Given the description of an element on the screen output the (x, y) to click on. 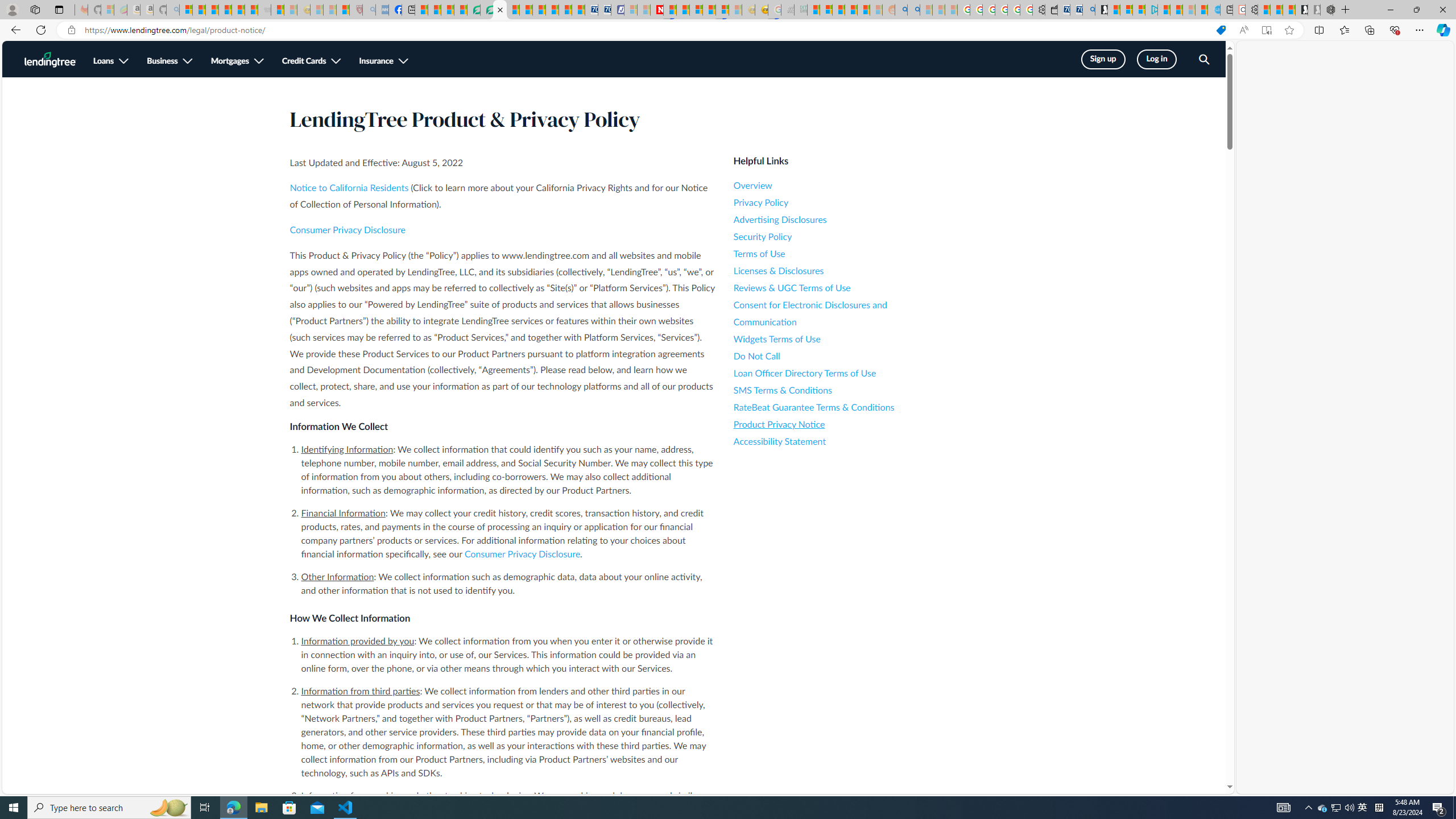
LendingTree - Compare Lenders (473, 9)
Licenses & Disclosures (836, 271)
